Given the description of an element on the screen output the (x, y) to click on. 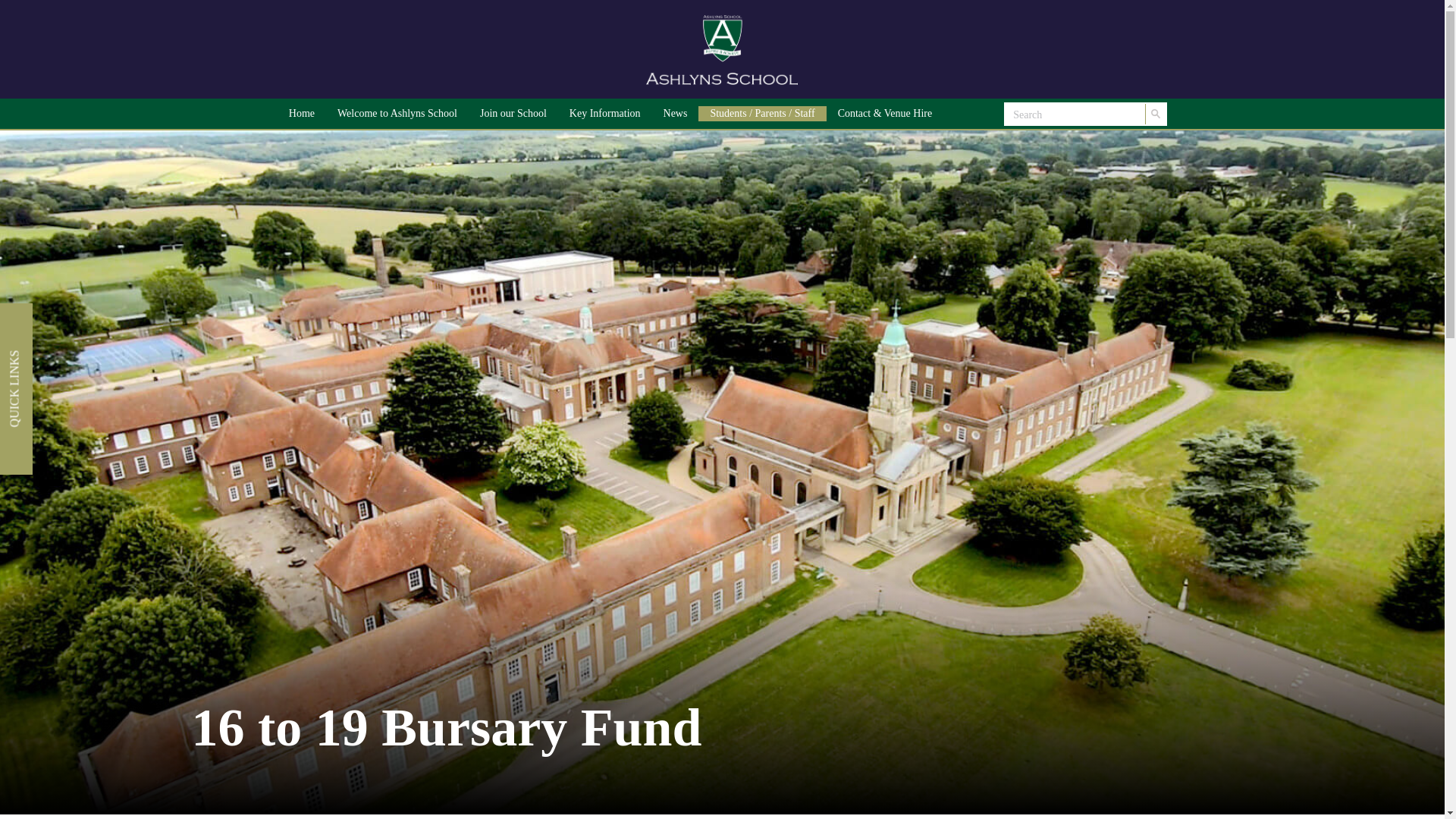
Welcome to Ashlyns School (397, 113)
News (675, 113)
Join our School (512, 113)
Key Information (604, 113)
Home (302, 113)
